Given the description of an element on the screen output the (x, y) to click on. 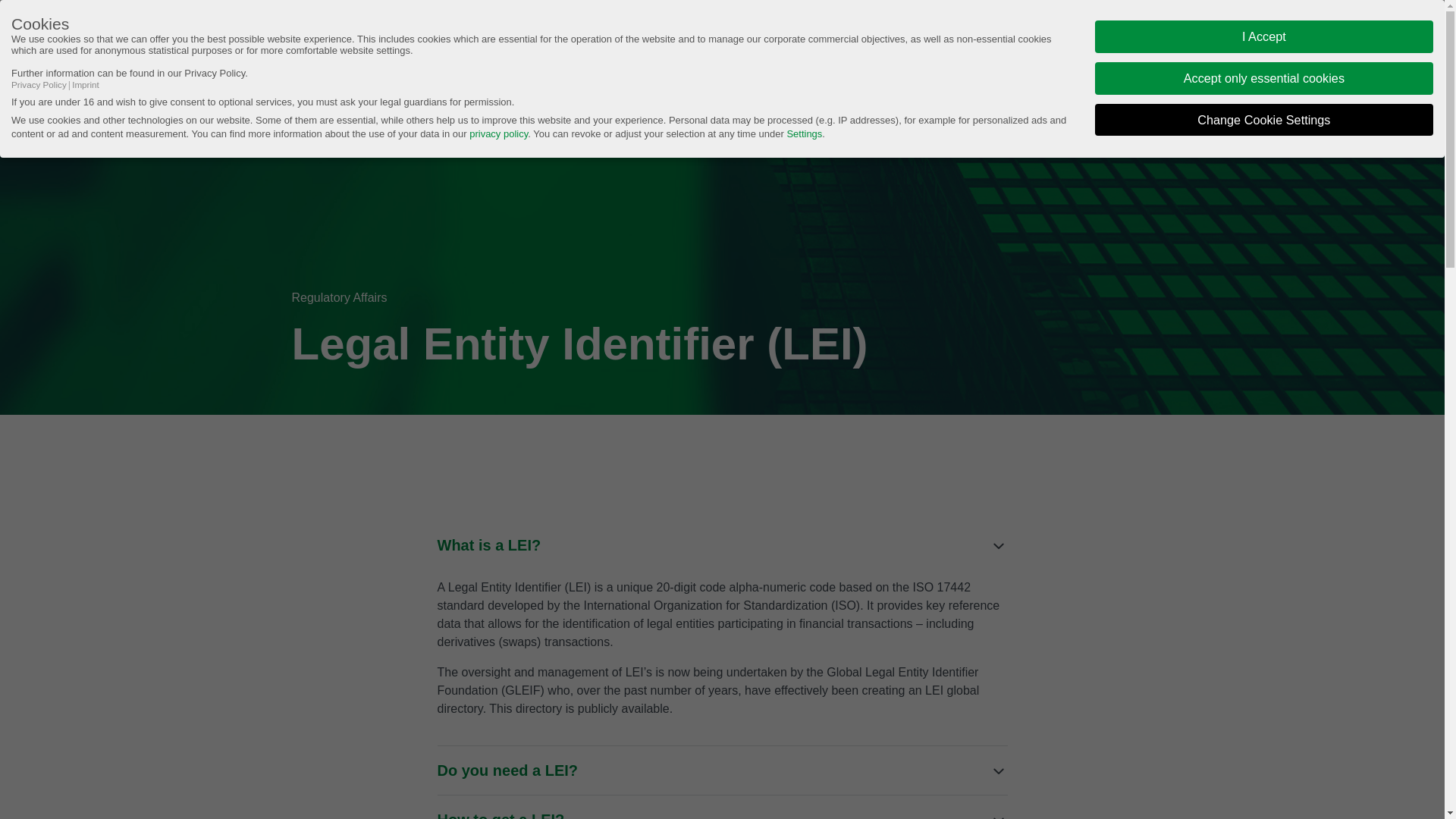
Solutions Element type: text (684, 36)
Settings Element type: text (804, 133)
Request demo Element type: text (1065, 36)
Regulatory Affairs Element type: text (905, 36)
Change Cookie Settings Element type: text (1264, 119)
Imprint Element type: text (85, 84)
Accept only essential cookies Element type: text (1264, 78)
privacy policy Element type: text (498, 133)
Products Element type: text (593, 36)
Content Hub Element type: text (784, 36)
I Accept Element type: text (1264, 36)
Privacy Policy Element type: text (38, 84)
